Given the description of an element on the screen output the (x, y) to click on. 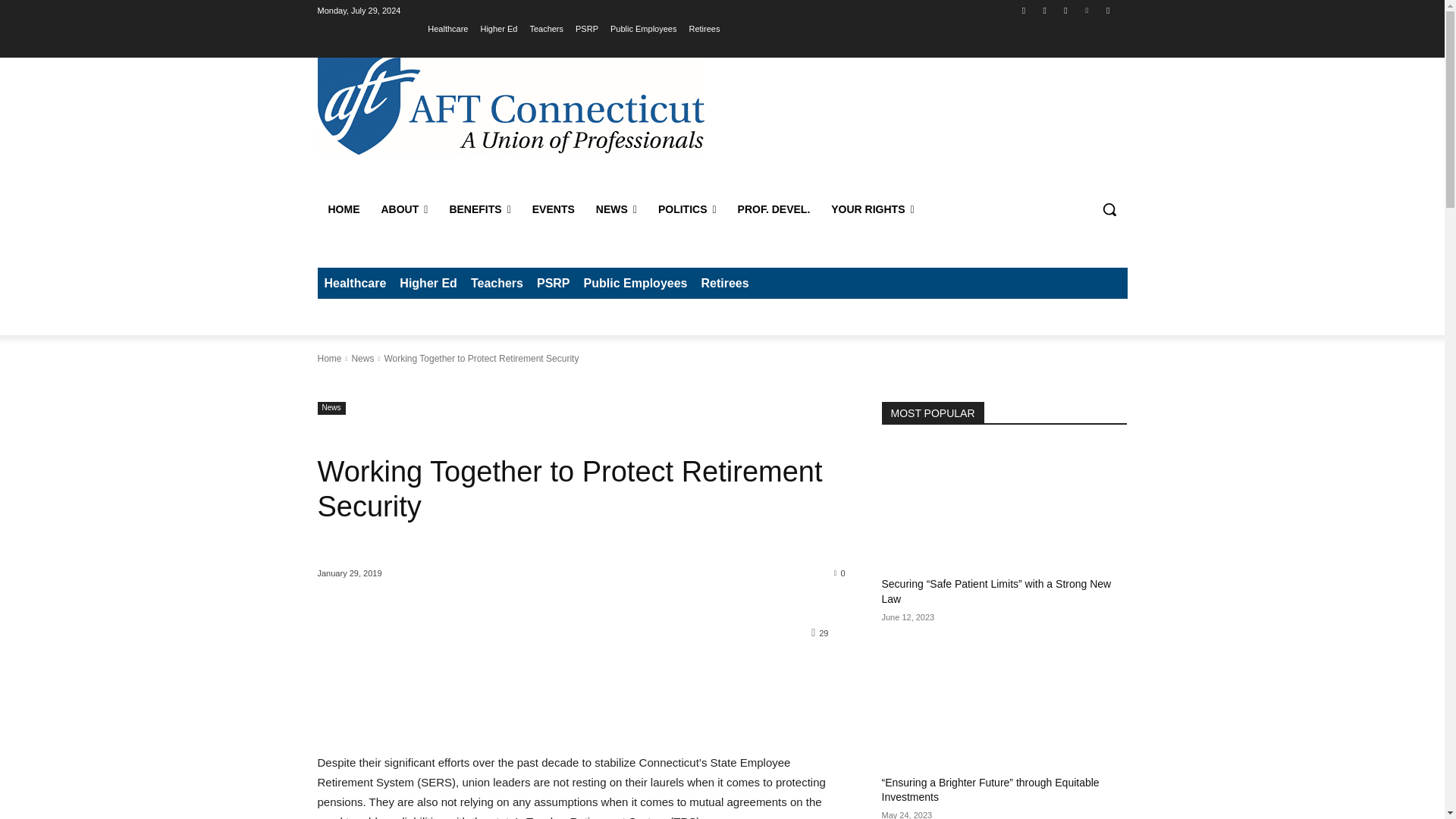
Facebook (1023, 9)
Mail (1065, 9)
Instagram (1043, 9)
Youtube (1107, 9)
View all posts in News (362, 357)
Twitter (1087, 9)
